Given the description of an element on the screen output the (x, y) to click on. 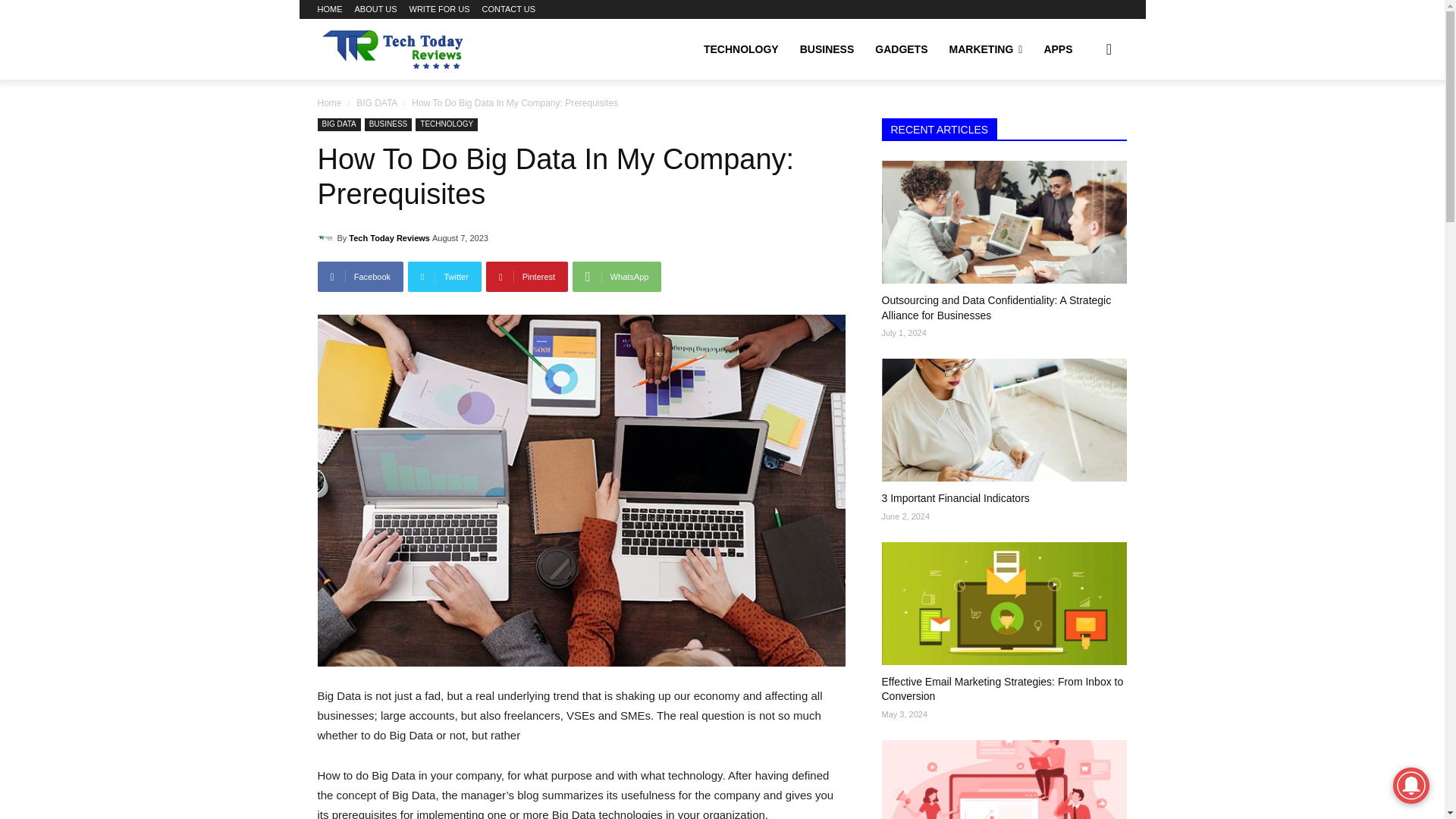
TECHNOLOGY (741, 48)
CONTACT US (508, 8)
MARKETING (986, 48)
WRITE FOR US (439, 8)
GADGETS (900, 48)
BUSINESS (826, 48)
HOME (329, 8)
View all posts in BIG DATA (376, 102)
ABOUT US (376, 8)
